Given the description of an element on the screen output the (x, y) to click on. 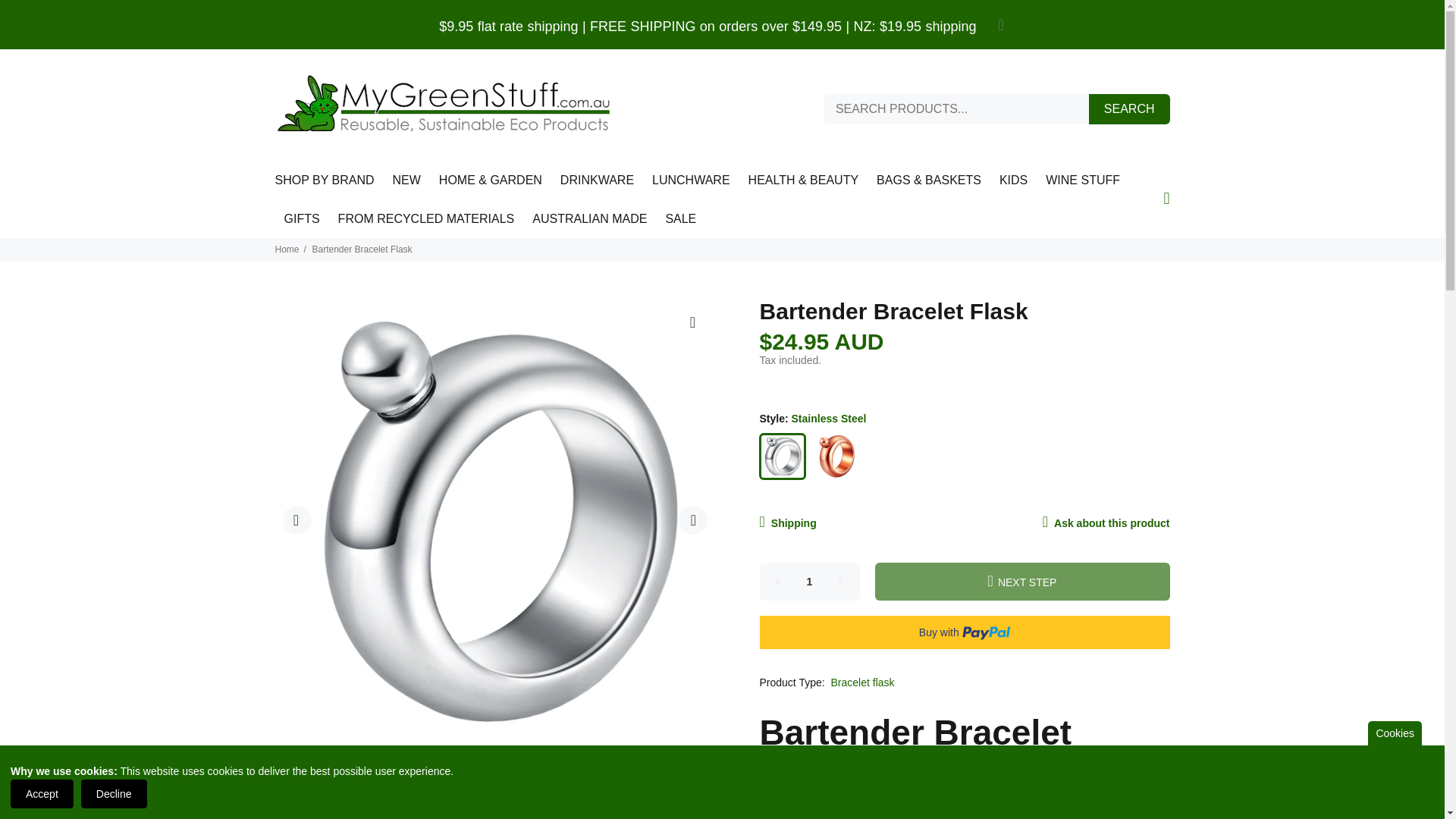
1 (810, 581)
